Given the description of an element on the screen output the (x, y) to click on. 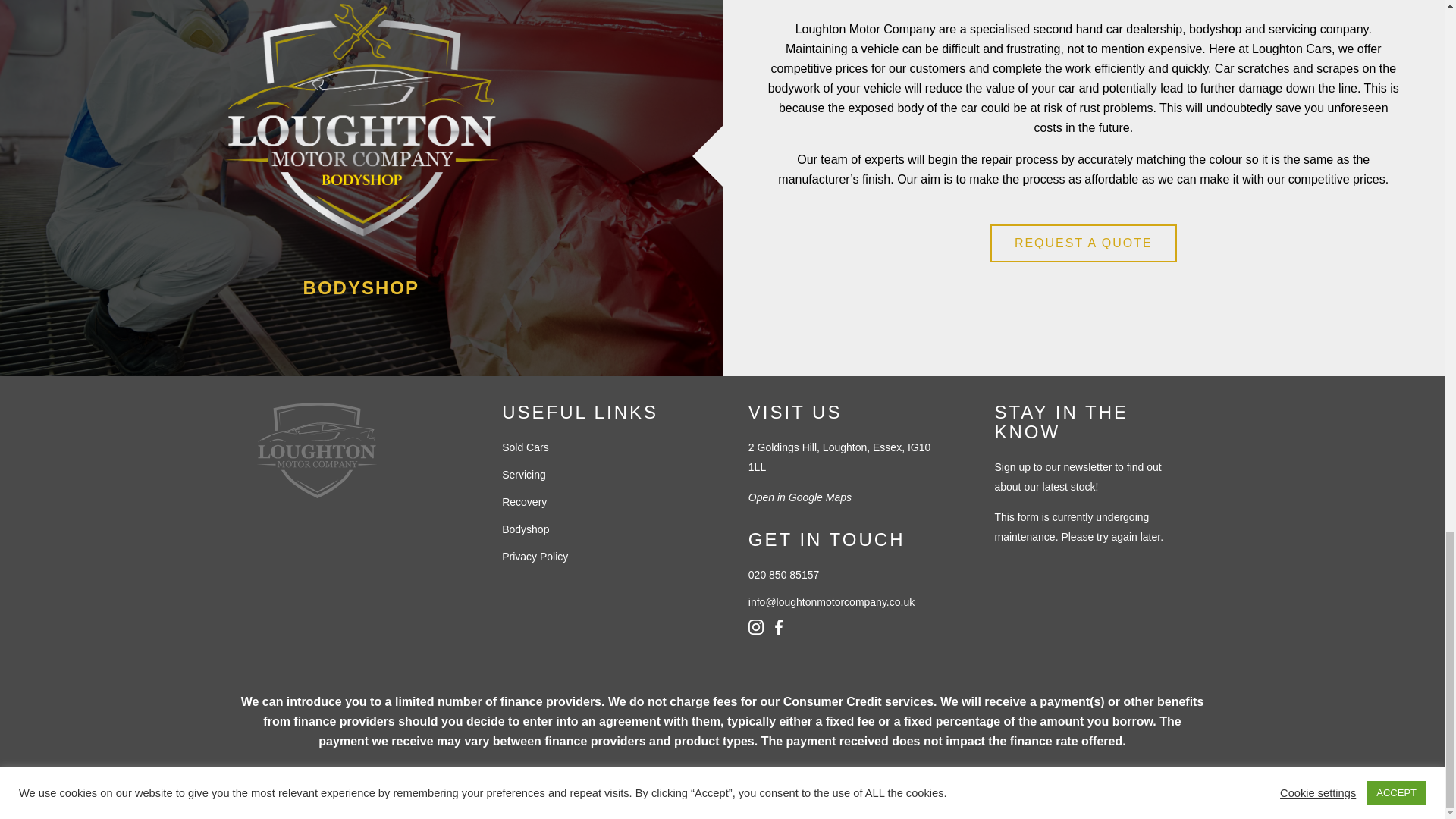
Servicing (598, 474)
Bodyshop (598, 528)
Sold Cars (598, 447)
Open in Google Maps (845, 496)
REQUEST A QUOTE (1083, 243)
Privacy Policy (598, 556)
Recovery (598, 501)
020 850 85157 (845, 574)
